Given the description of an element on the screen output the (x, y) to click on. 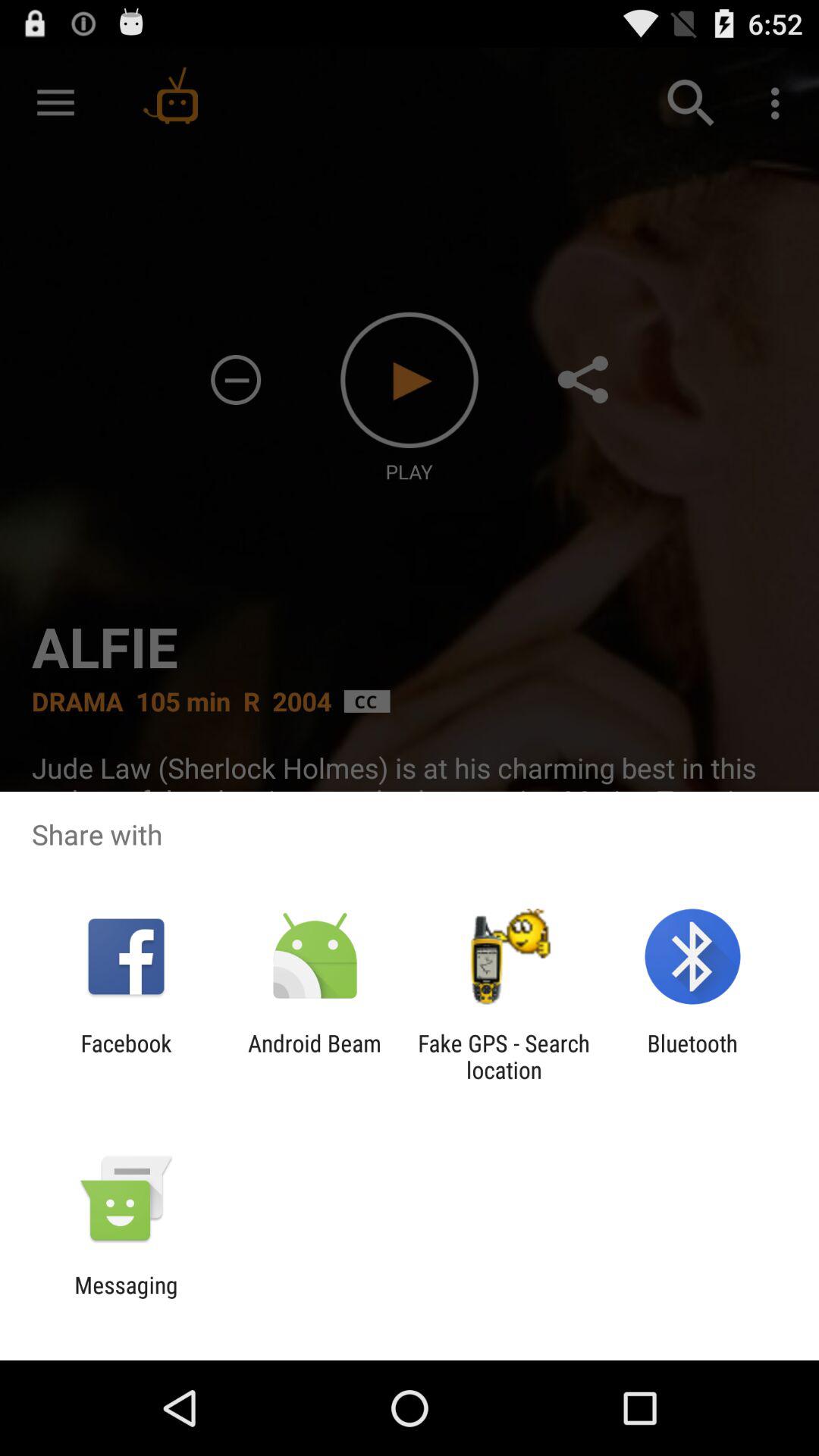
click icon next to android beam app (125, 1056)
